Given the description of an element on the screen output the (x, y) to click on. 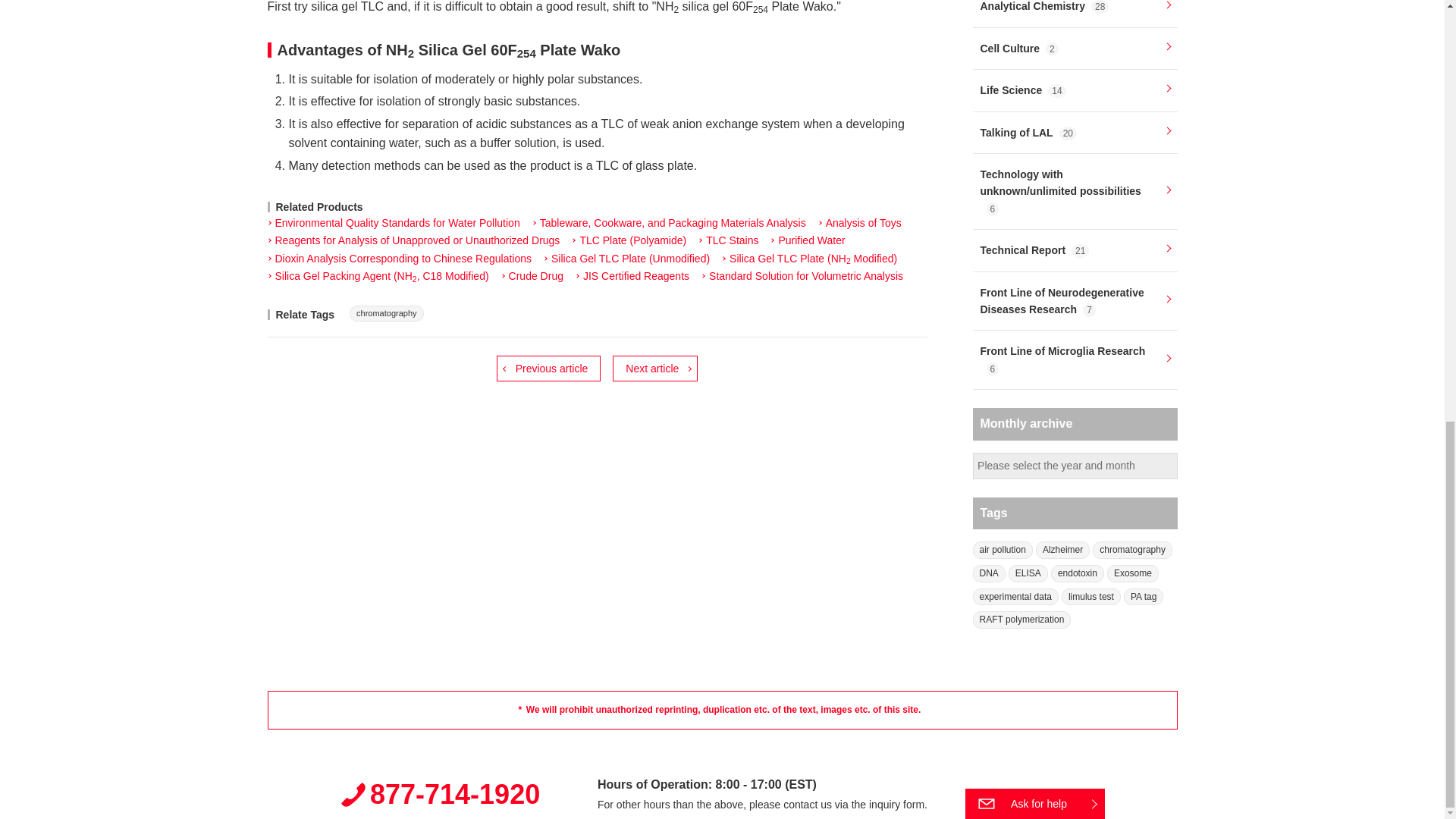
TLC Stains (728, 240)
JIS Certified Reagents (631, 276)
Exosome (1132, 573)
endotoxin (1077, 573)
Purified Water (807, 240)
PA tag (1143, 597)
chromatography (1132, 549)
DNA (988, 573)
Dioxin Analysis Corresponding to Chinese Regulations (398, 258)
Tableware, Cookware, and Packaging Materials Analysis (669, 223)
chromatography (386, 313)
experimental data (1015, 597)
Standard Solution for Volumetric Analysis (801, 276)
RAFT polymerization (1021, 619)
Alzheimer (1062, 549)
